Given the description of an element on the screen output the (x, y) to click on. 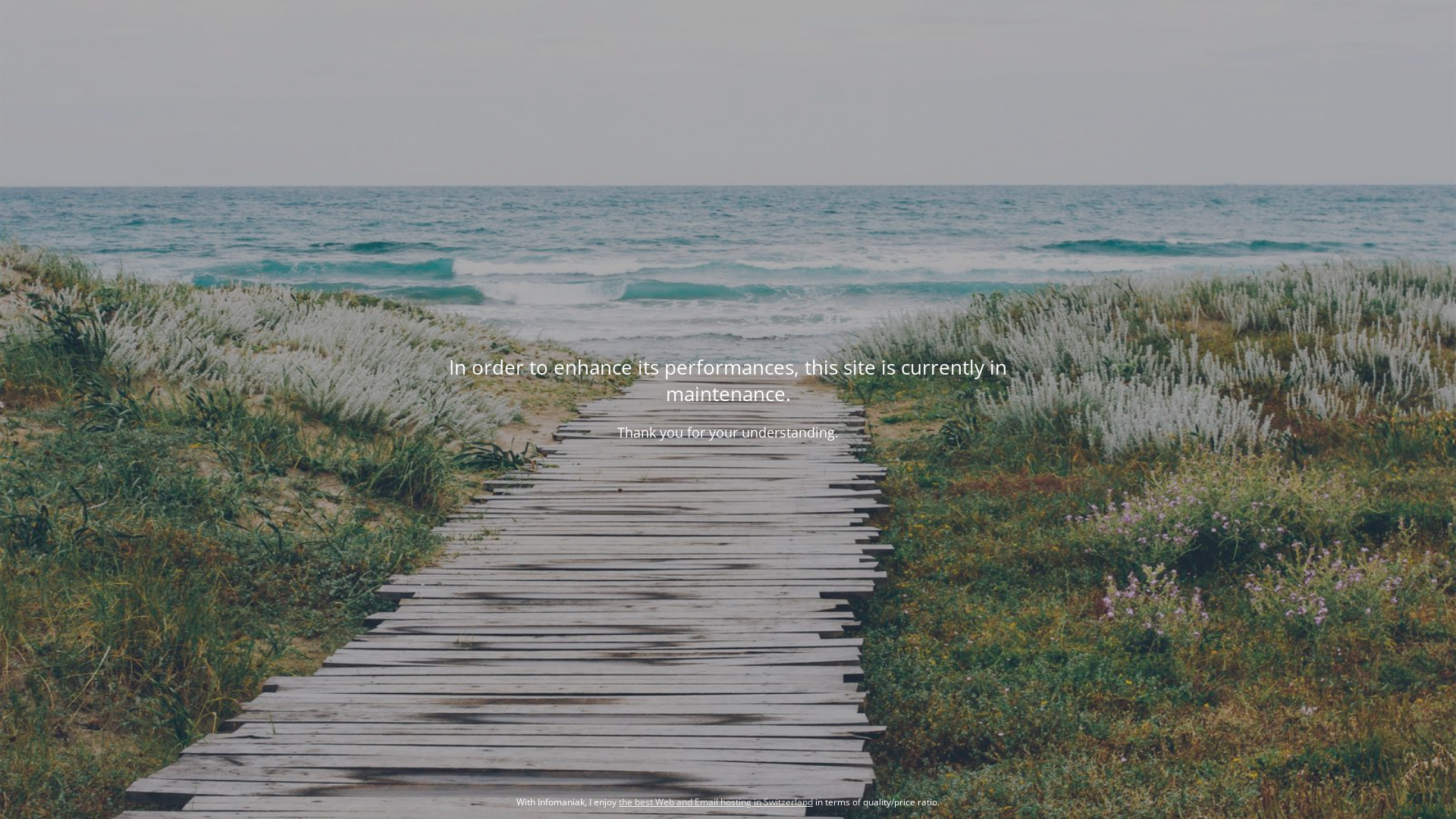
the best Web and Email hosting in Switzerland Element type: text (715, 801)
